Given the description of an element on the screen output the (x, y) to click on. 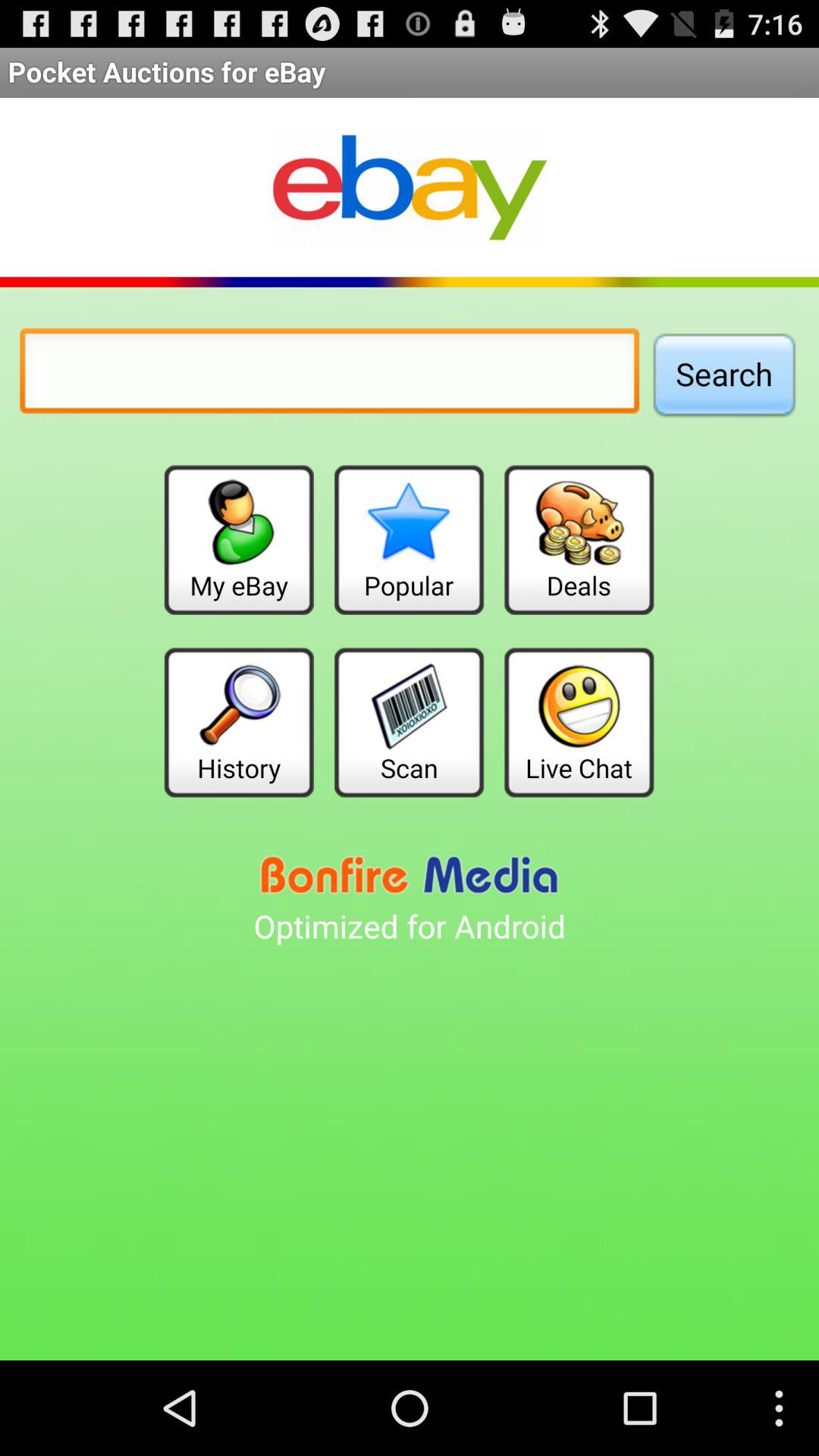
press item below popular icon (409, 722)
